Given the description of an element on the screen output the (x, y) to click on. 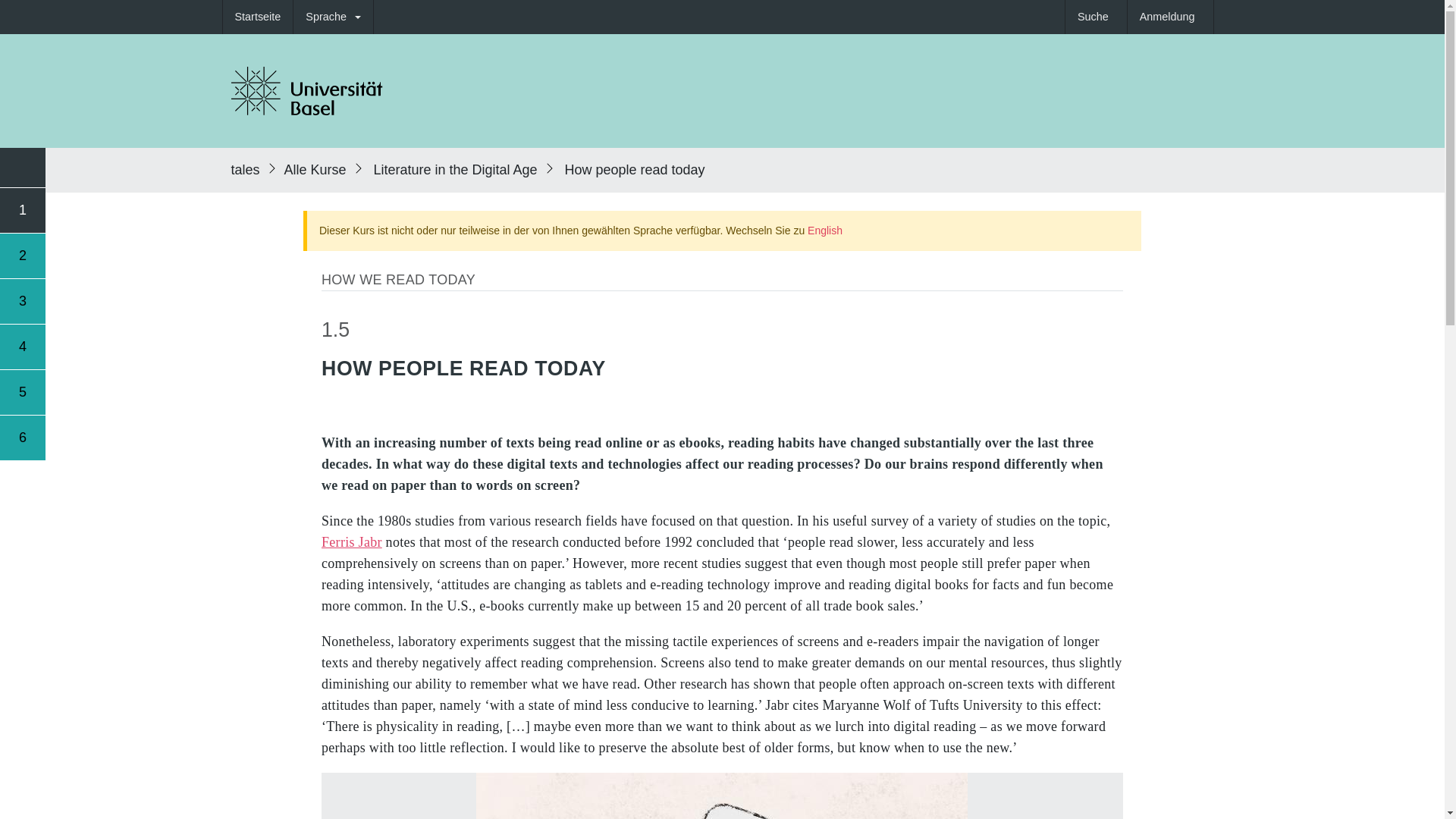
Mit EduID anmelden (1169, 17)
1 (22, 209)
Anmeldung (1169, 17)
Suche (1095, 17)
2 (22, 255)
Startseite (258, 17)
Navigation umschalten (22, 167)
Sprache (333, 17)
Startseite (258, 17)
